Given the description of an element on the screen output the (x, y) to click on. 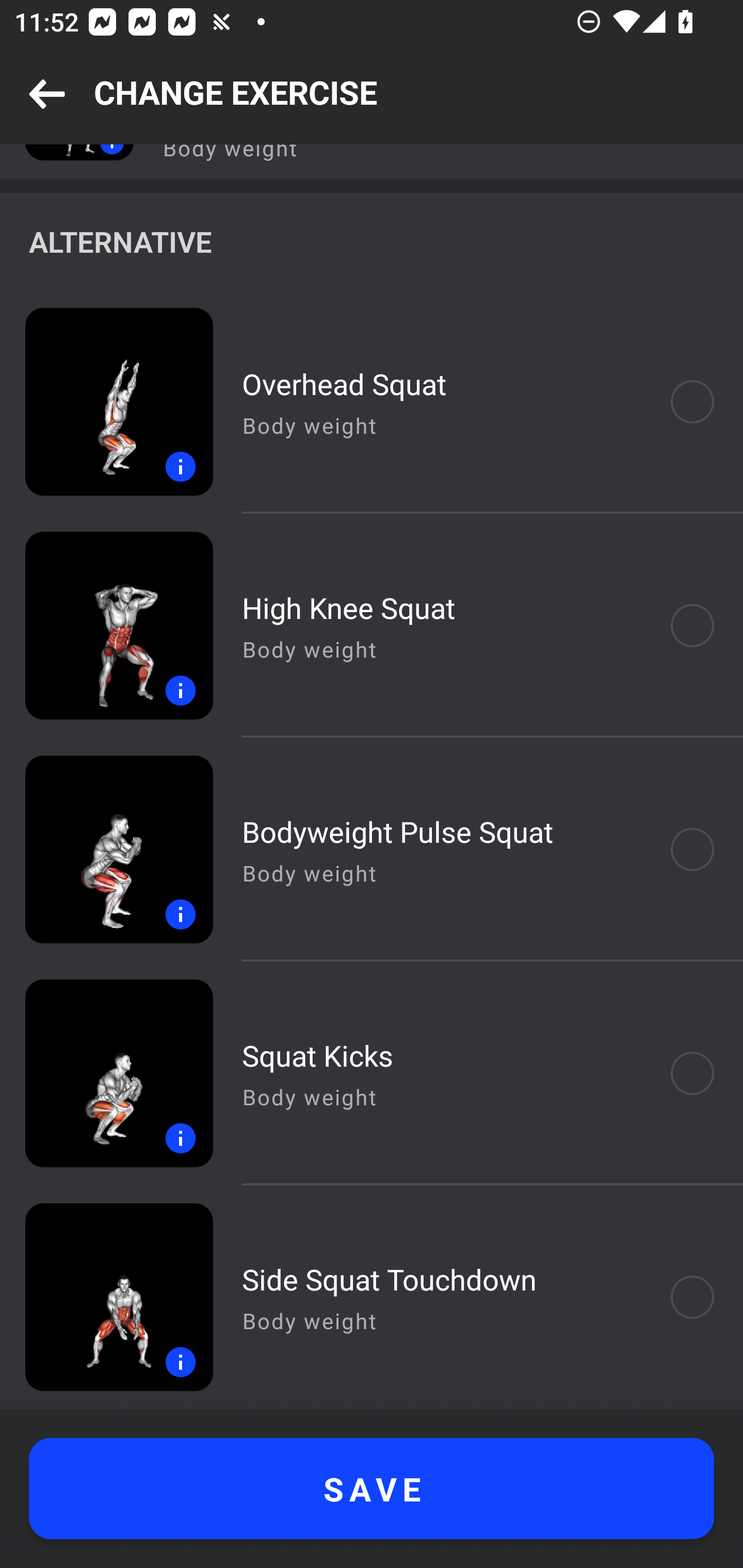
Navigation icon (46, 94)
details Overhead Squat Body weight (371, 402)
details (106, 402)
details High Knee Squat Body weight (371, 625)
details (106, 625)
details Bodyweight Pulse Squat Body weight (371, 848)
details (106, 848)
details Squat Kicks Body weight (371, 1073)
details (106, 1073)
details Side Squat Touchdown Body weight (371, 1297)
details (106, 1297)
SAVE (371, 1488)
